Given the description of an element on the screen output the (x, y) to click on. 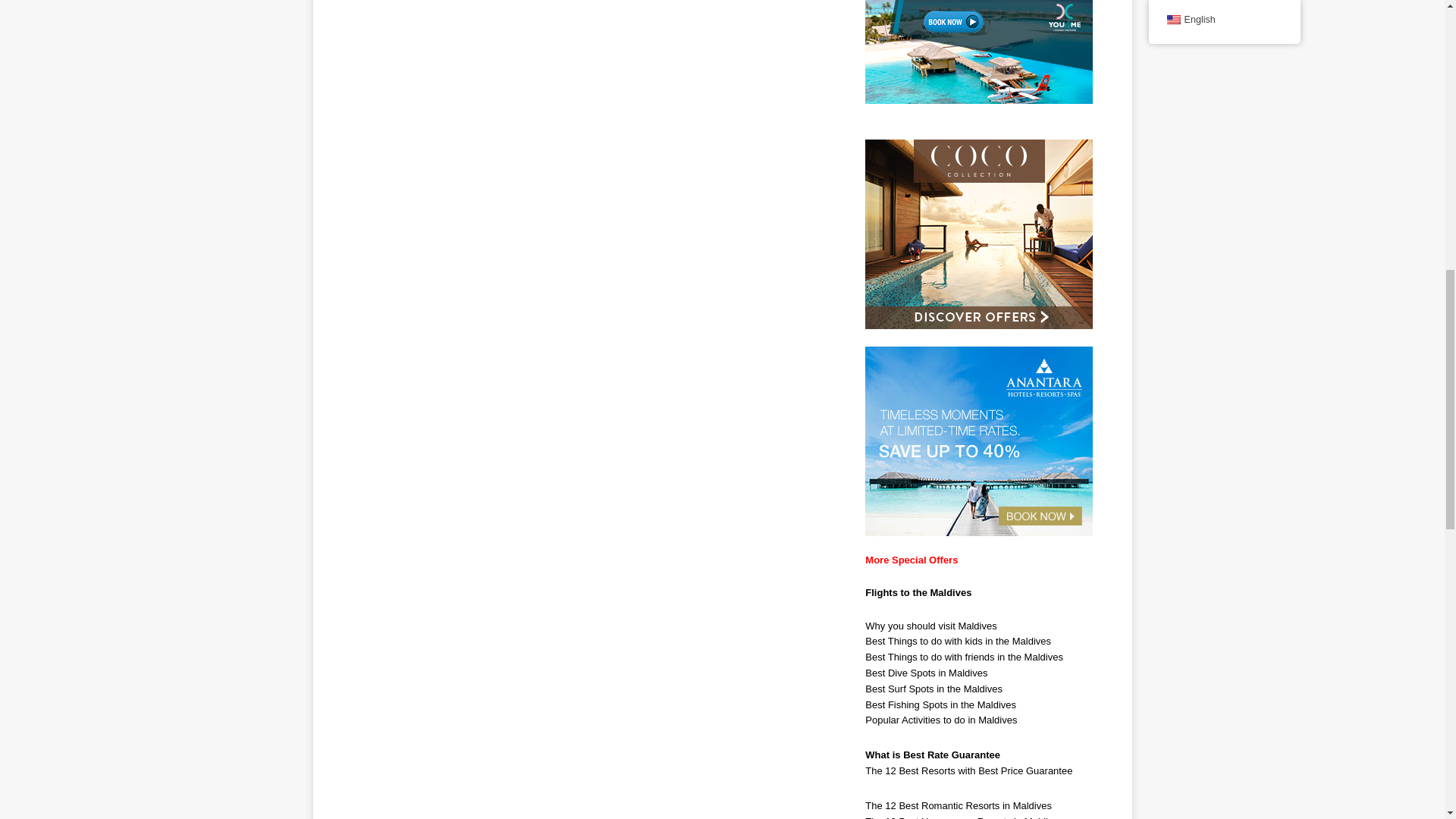
Flights to the Maldives (917, 592)
Best surf spots in Maldives (933, 688)
Best dive spots in Maldives (925, 672)
Best Things to do with friends in the Maldives (963, 656)
Best Things to do with kids in Maldives (957, 641)
Why you should visit Maldives (929, 625)
More Special Offers (911, 559)
